Given the description of an element on the screen output the (x, y) to click on. 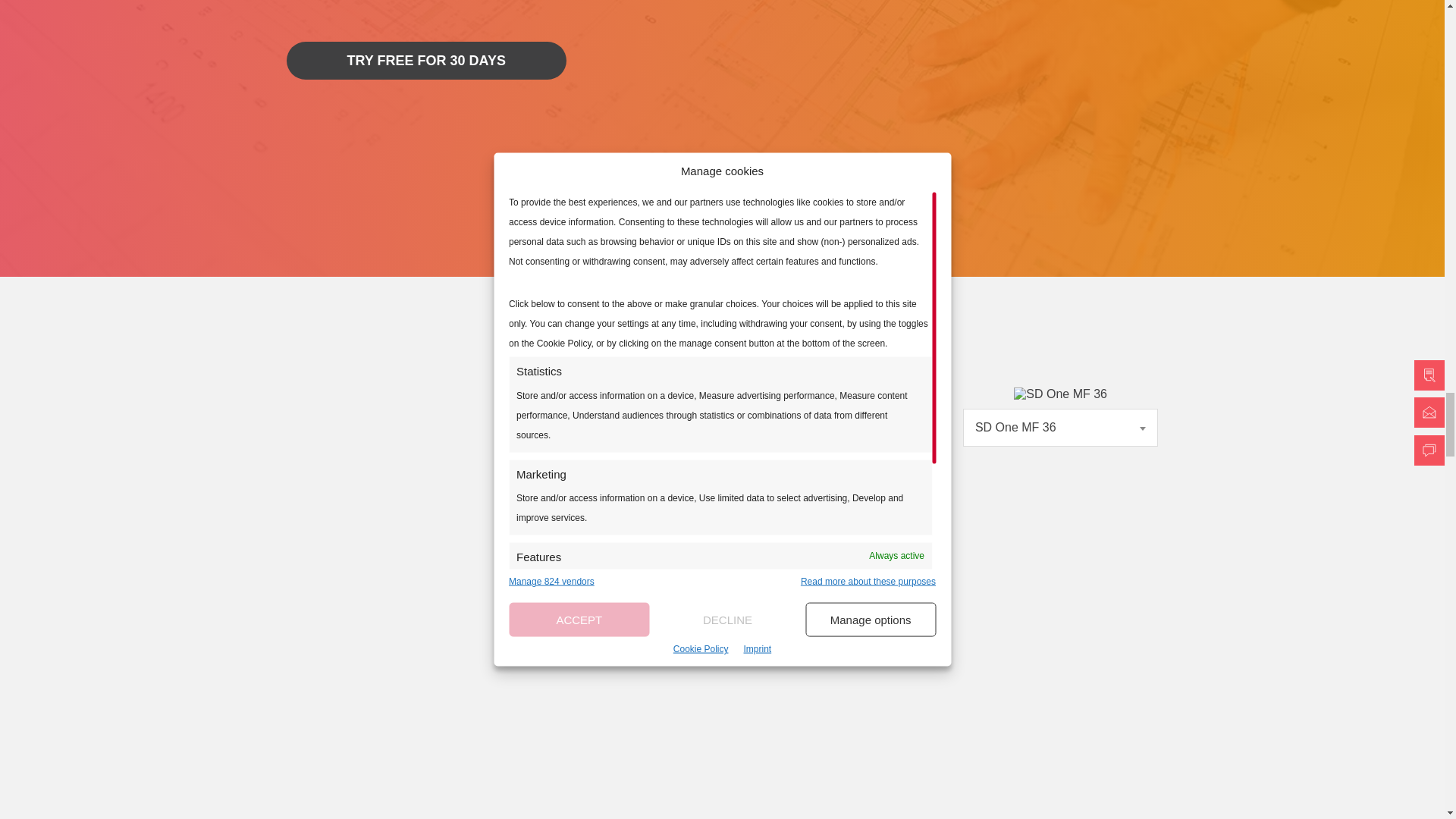
SD One MF 44 (853, 427)
SD One MF 36 (1061, 427)
SD One MF 24 (644, 440)
